Given the description of an element on the screen output the (x, y) to click on. 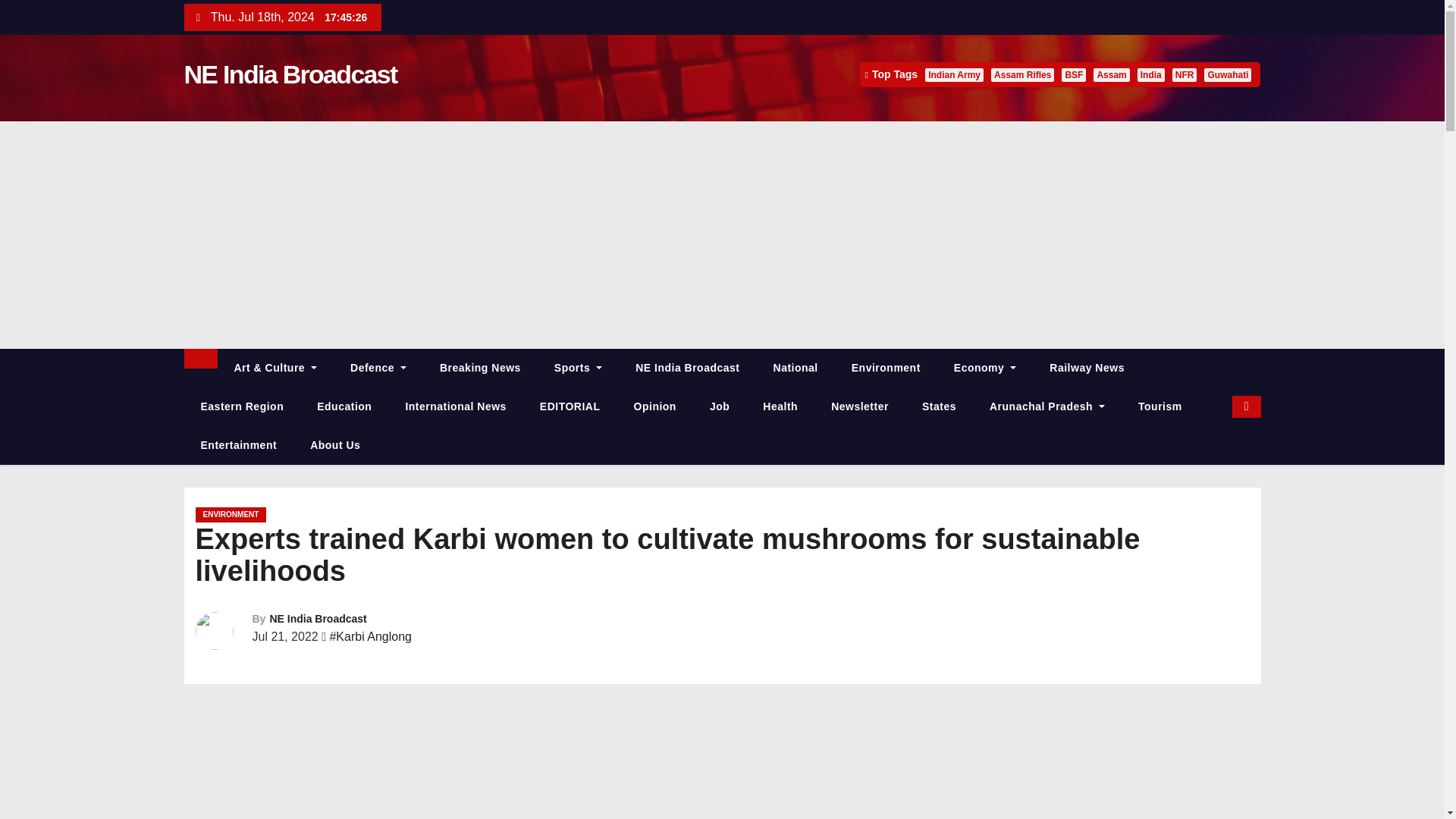
Education (343, 406)
Job (719, 406)
Indian Army (954, 74)
NFR (1184, 74)
EDITORIAL (569, 406)
Assam Rifles (1022, 74)
National (795, 367)
Eastern Region (241, 406)
Home (199, 358)
BSF (1073, 74)
Railway News (1086, 367)
Defence (378, 367)
India (1150, 74)
Assam (1111, 74)
International News (455, 406)
